Given the description of an element on the screen output the (x, y) to click on. 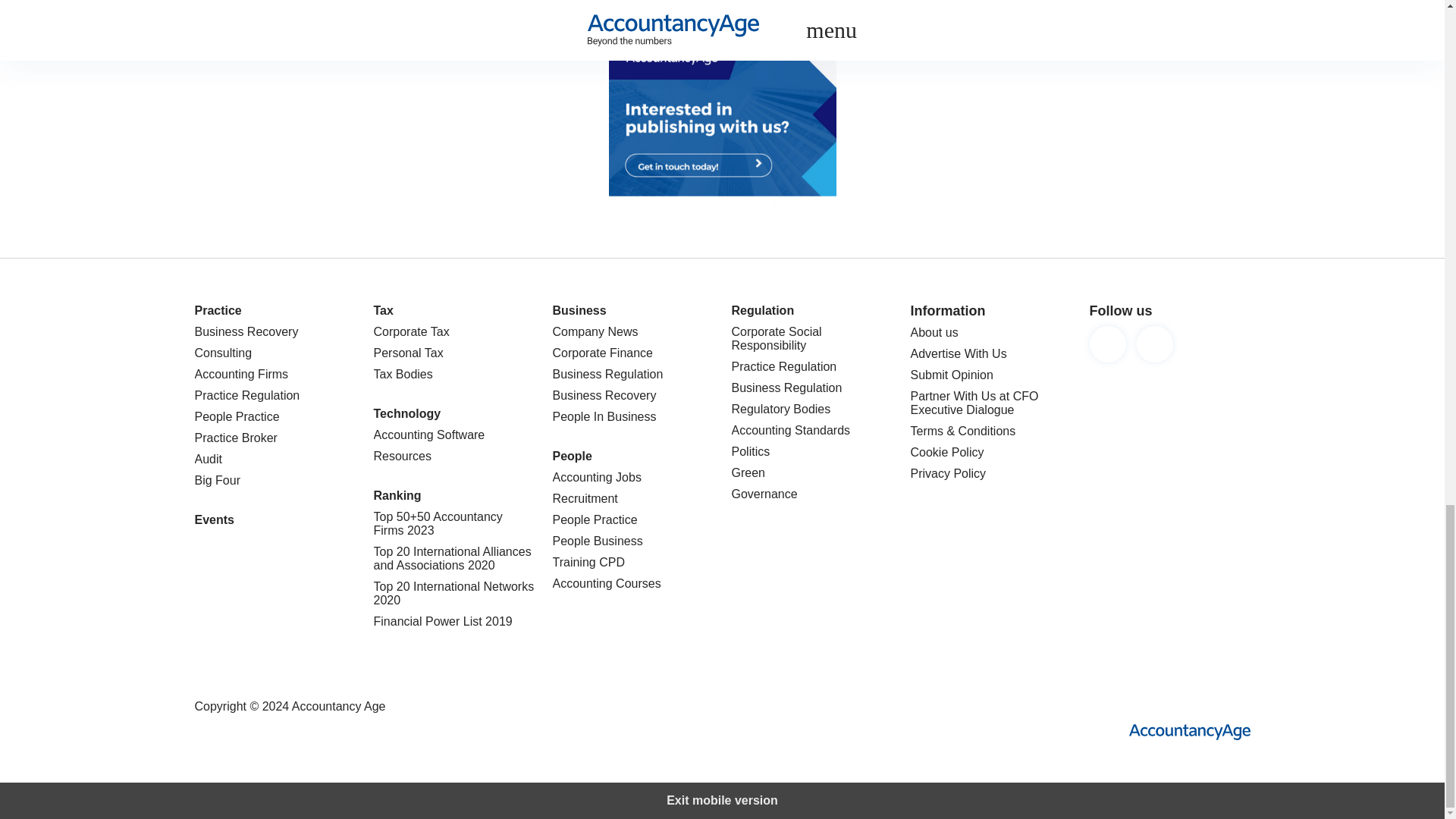
3rd party ad content (721, 114)
People Practice (274, 417)
Consulting (274, 353)
Practice Broker (274, 438)
Audit (274, 459)
Events (212, 519)
Practice (217, 309)
Tax Bodies (453, 374)
Personal Tax (453, 353)
Accounting Firms (274, 374)
Business Recovery (274, 332)
Big Four (274, 480)
Practice Regulation (274, 395)
Corporate Tax (453, 332)
